Given the description of an element on the screen output the (x, y) to click on. 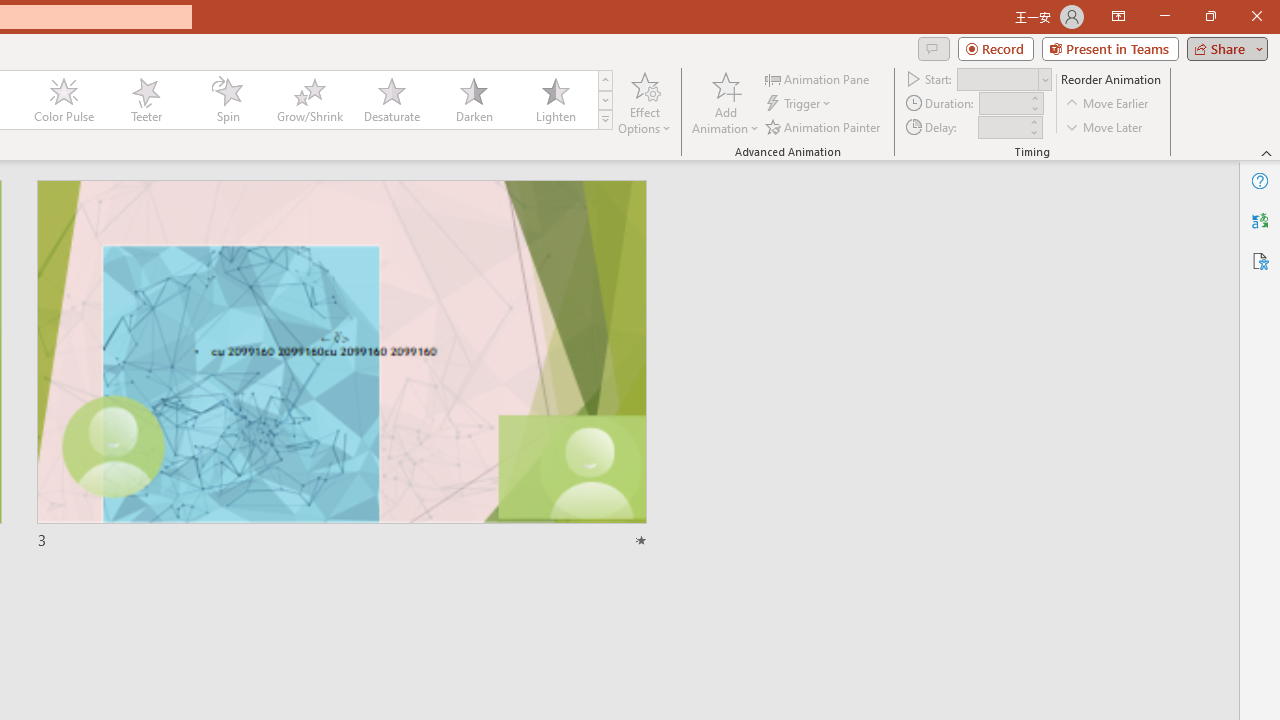
Start (1004, 78)
Lighten (555, 100)
Darken (473, 100)
Animation Duration (1003, 103)
Animation Pane (818, 78)
Teeter (145, 100)
Spin (227, 100)
Move Earlier (1107, 103)
Animation Delay (1002, 127)
Translator (1260, 220)
Effect Options (644, 102)
